Given the description of an element on the screen output the (x, y) to click on. 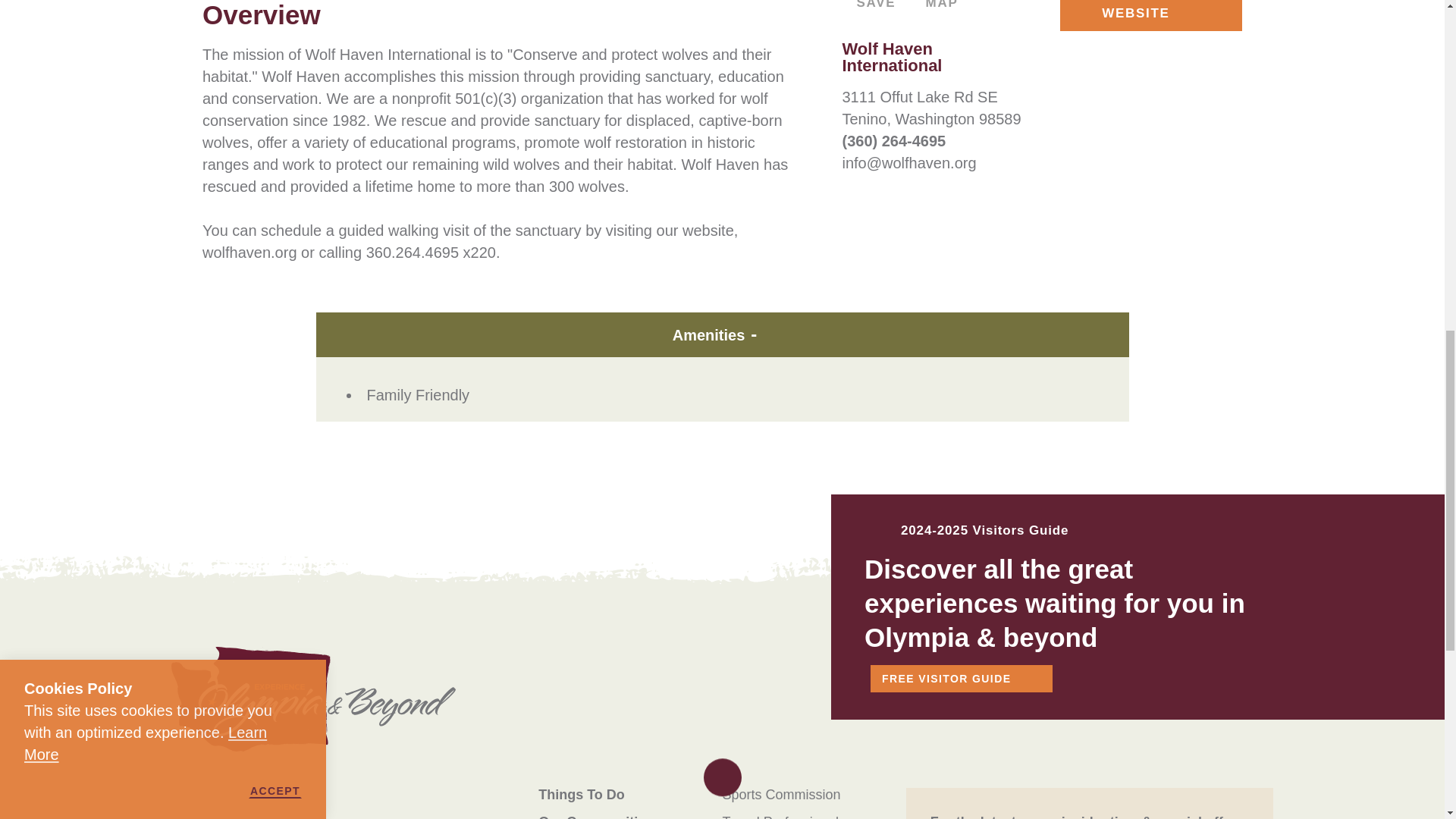
Things To Do (581, 794)
SAVE (868, 5)
FREE VISITOR GUIDE (961, 678)
WEBSITE (1150, 15)
MAP (936, 5)
Amenities (721, 334)
